Given the description of an element on the screen output the (x, y) to click on. 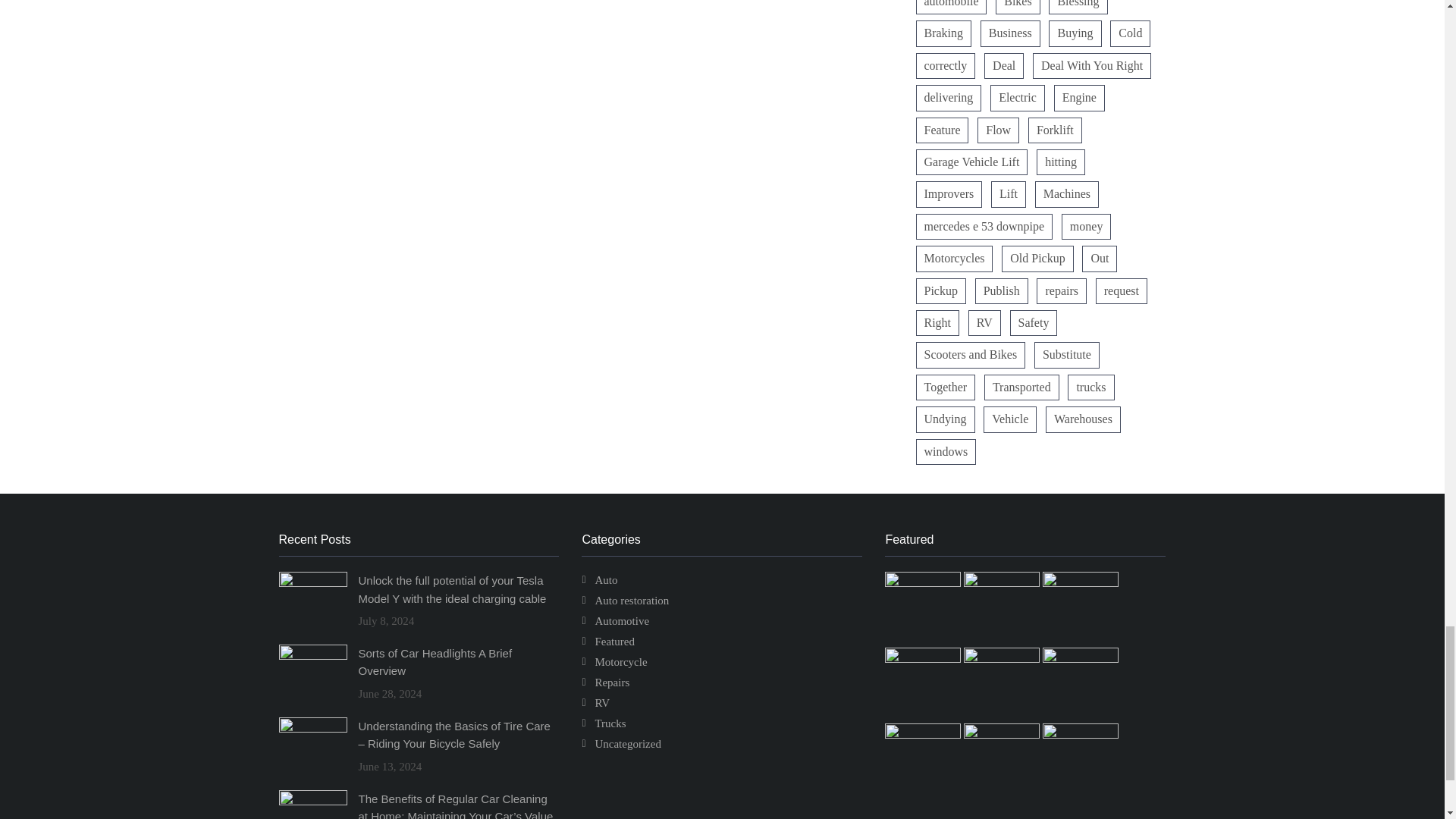
Sorts of Car Headlights A Brief Overview (1002, 582)
4 Tips on How to Keep Your Tesla Paint Looking New (1002, 658)
Asia Yachting: Where The Luxury New Yachts Are Found (1080, 734)
A Guide to Best Wheels Selection Types: Mobile Truck Repair (1002, 734)
